Given the description of an element on the screen output the (x, y) to click on. 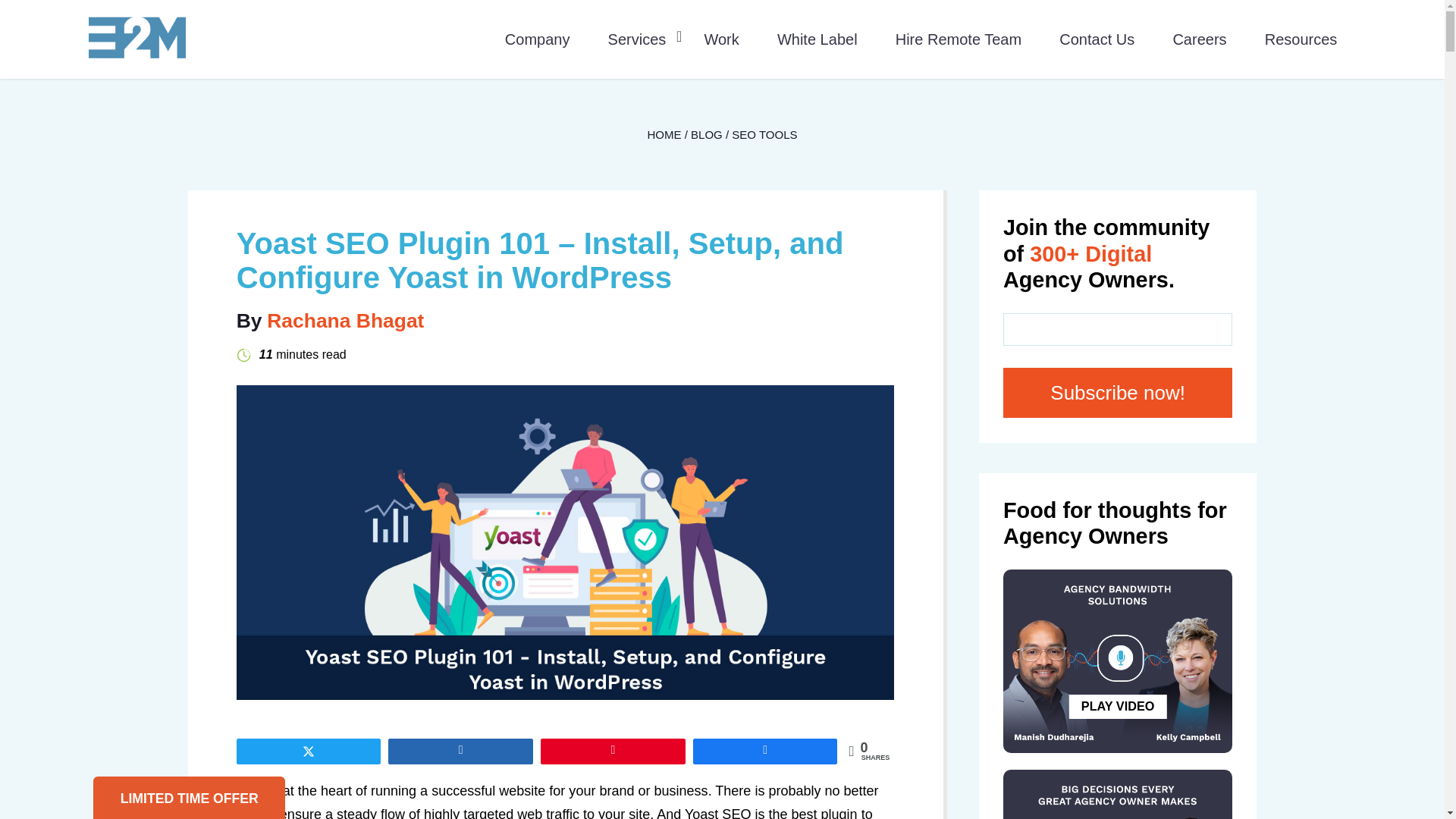
White Label (817, 38)
Company (537, 38)
Services (637, 38)
Subscribe now! (1117, 392)
Work (720, 38)
